Given the description of an element on the screen output the (x, y) to click on. 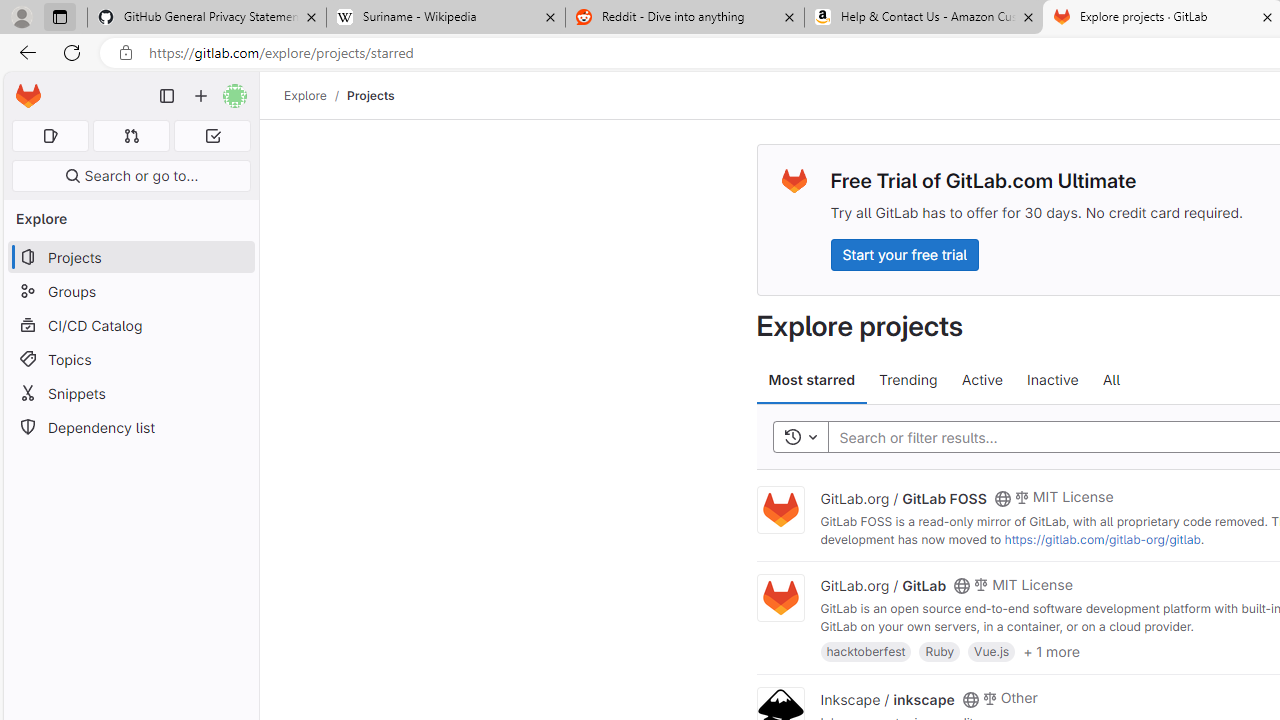
GitLab.org / GitLab (883, 585)
Suriname - Wikipedia (445, 17)
Trending (907, 379)
Toggle history (800, 437)
CI/CD Catalog (130, 325)
hacktoberfest (866, 650)
